Given the description of an element on the screen output the (x, y) to click on. 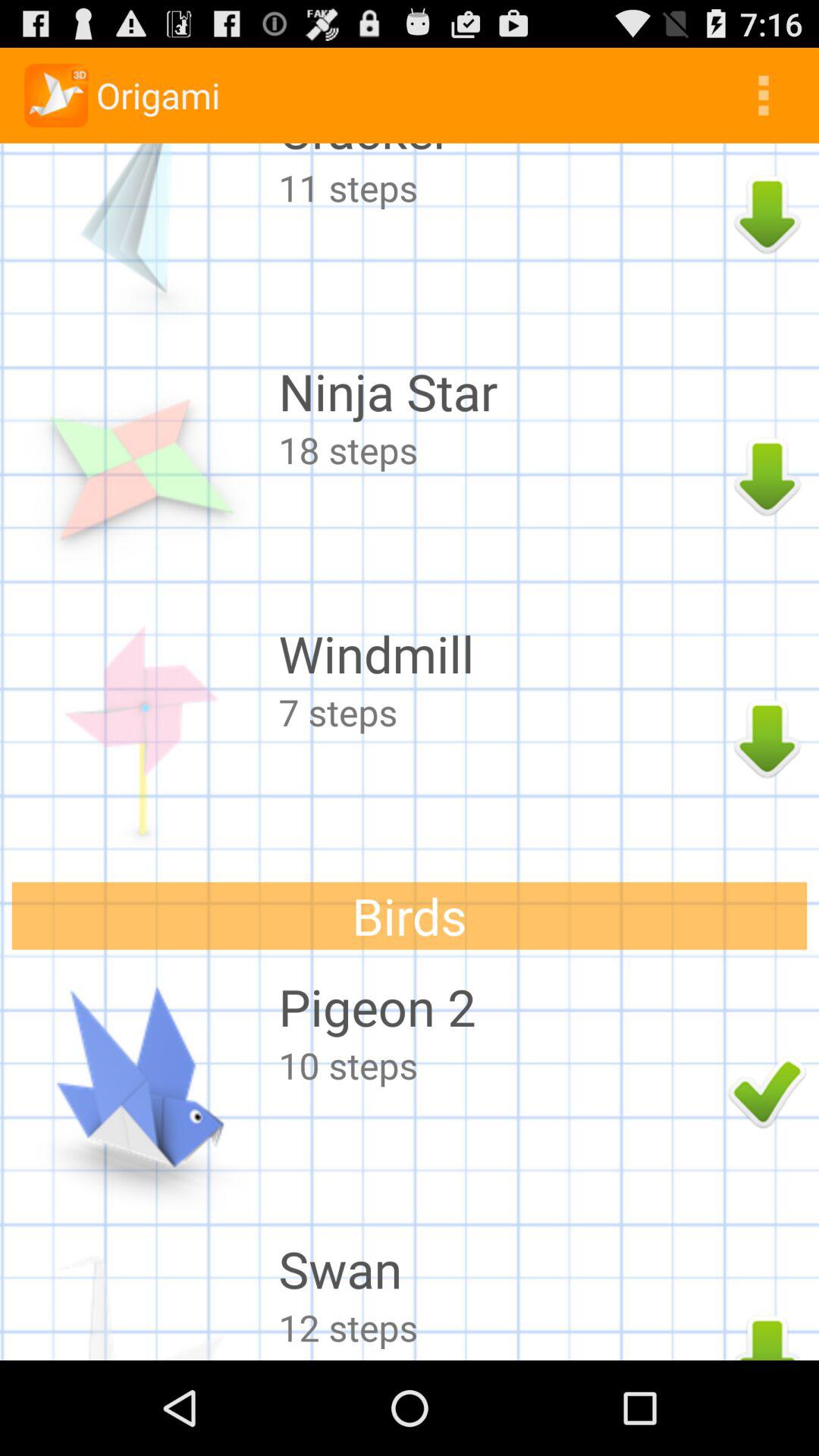
open the windmill icon (498, 653)
